Given the description of an element on the screen output the (x, y) to click on. 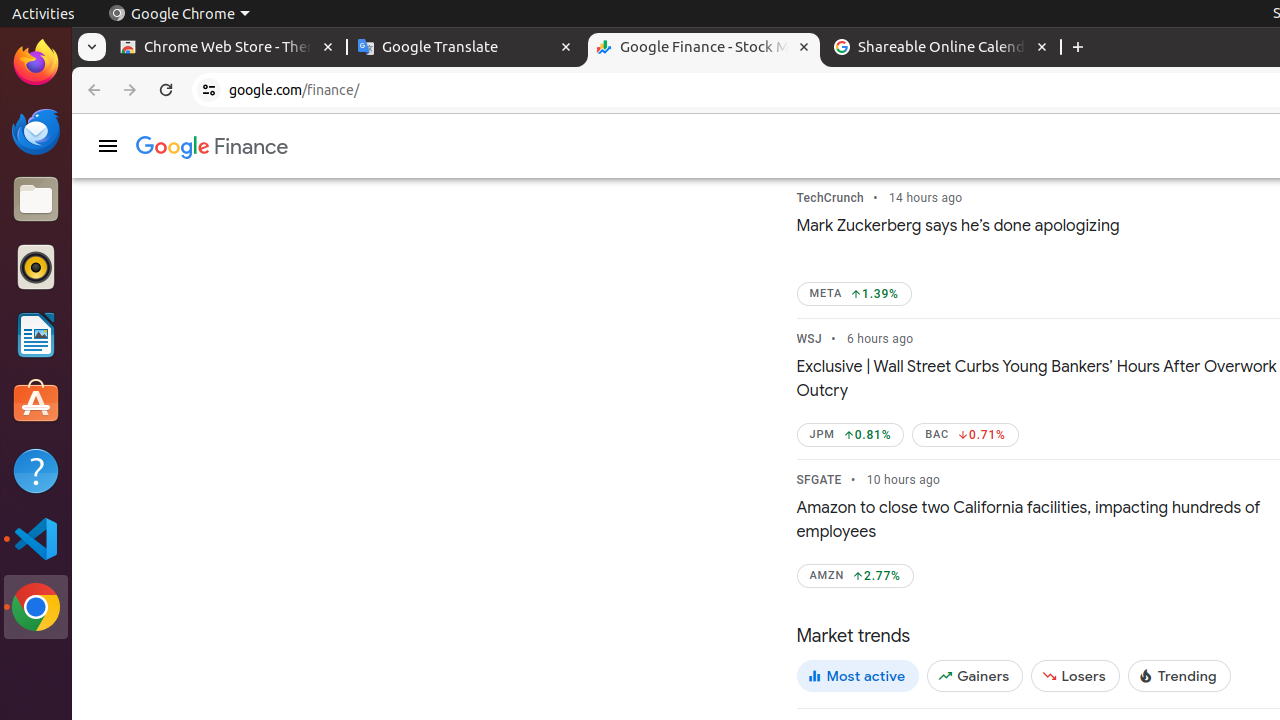
BAC Down by 0.71% Element type: link (965, 435)
Forward Element type: push-button (130, 90)
Firefox Web Browser Element type: push-button (36, 63)
AMZN Up by 2.77% Element type: link (855, 576)
Google Finance - Stock Market Prices, Real-time Quotes & Business News - Memory usage - 51.5 MB Element type: page-tab (704, 47)
